Given the description of an element on the screen output the (x, y) to click on. 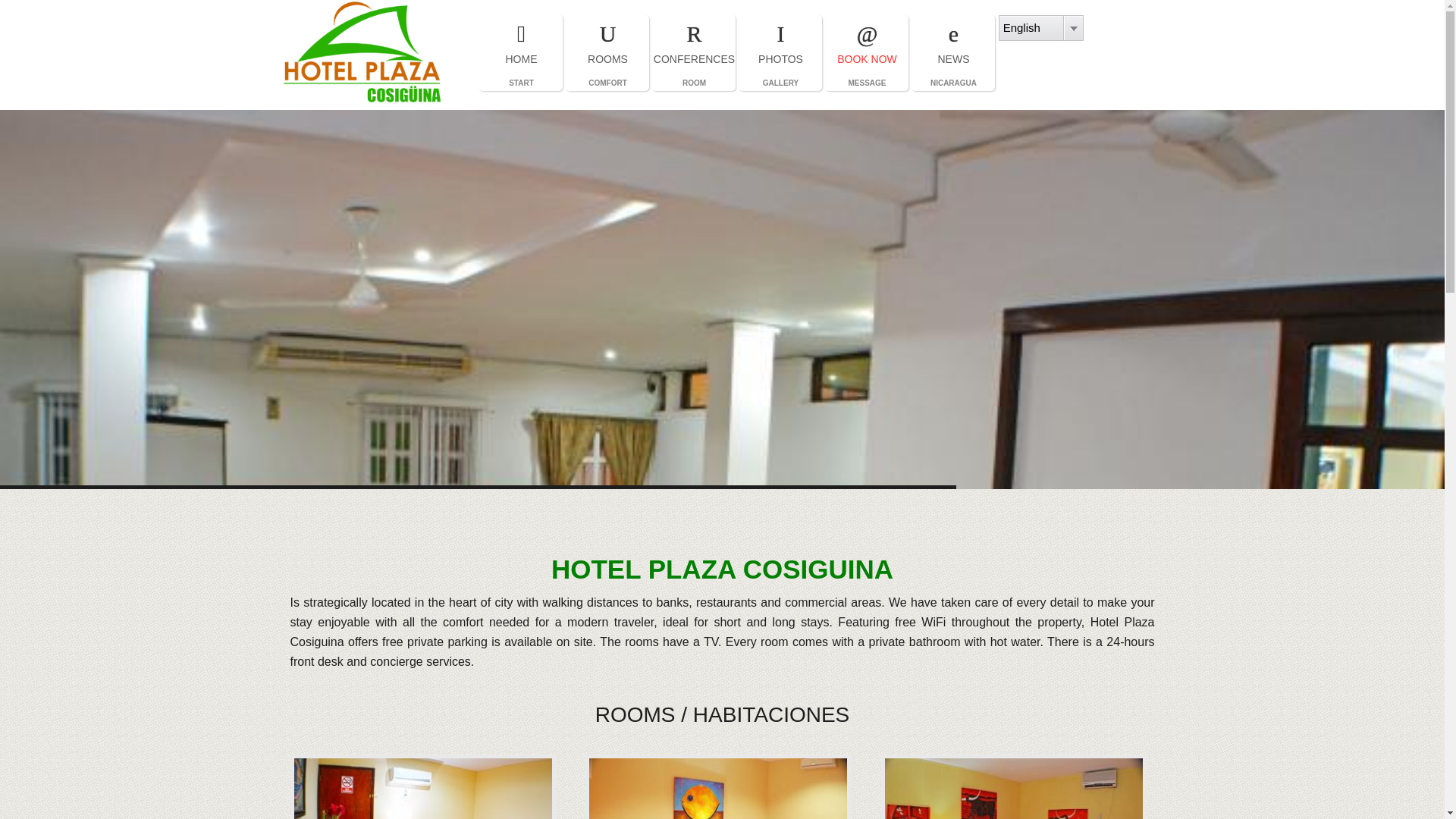
Skip to main content (693, 52)
